Given the description of an element on the screen output the (x, y) to click on. 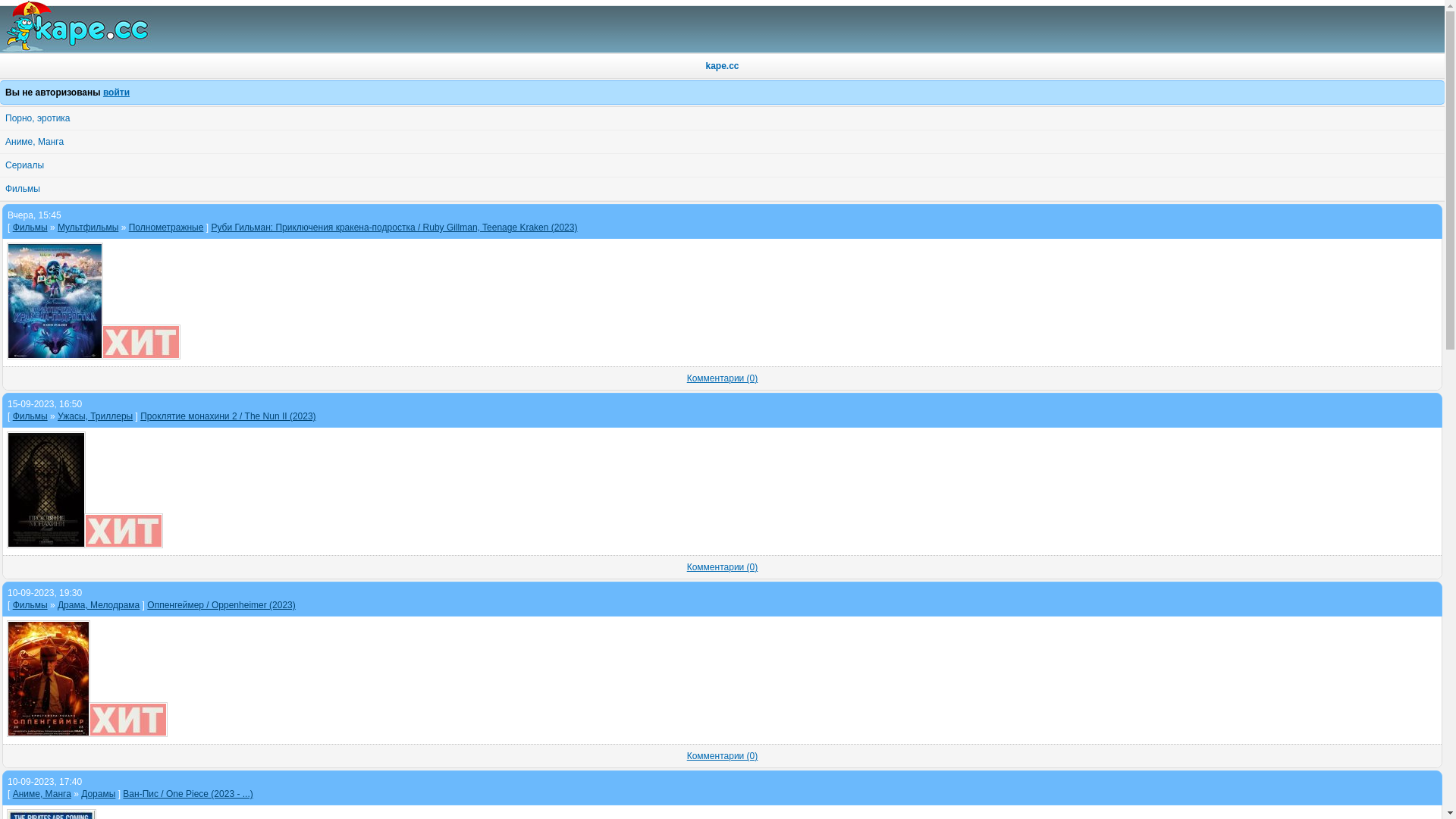
kape.cc Element type: text (721, 65)
